Given the description of an element on the screen output the (x, y) to click on. 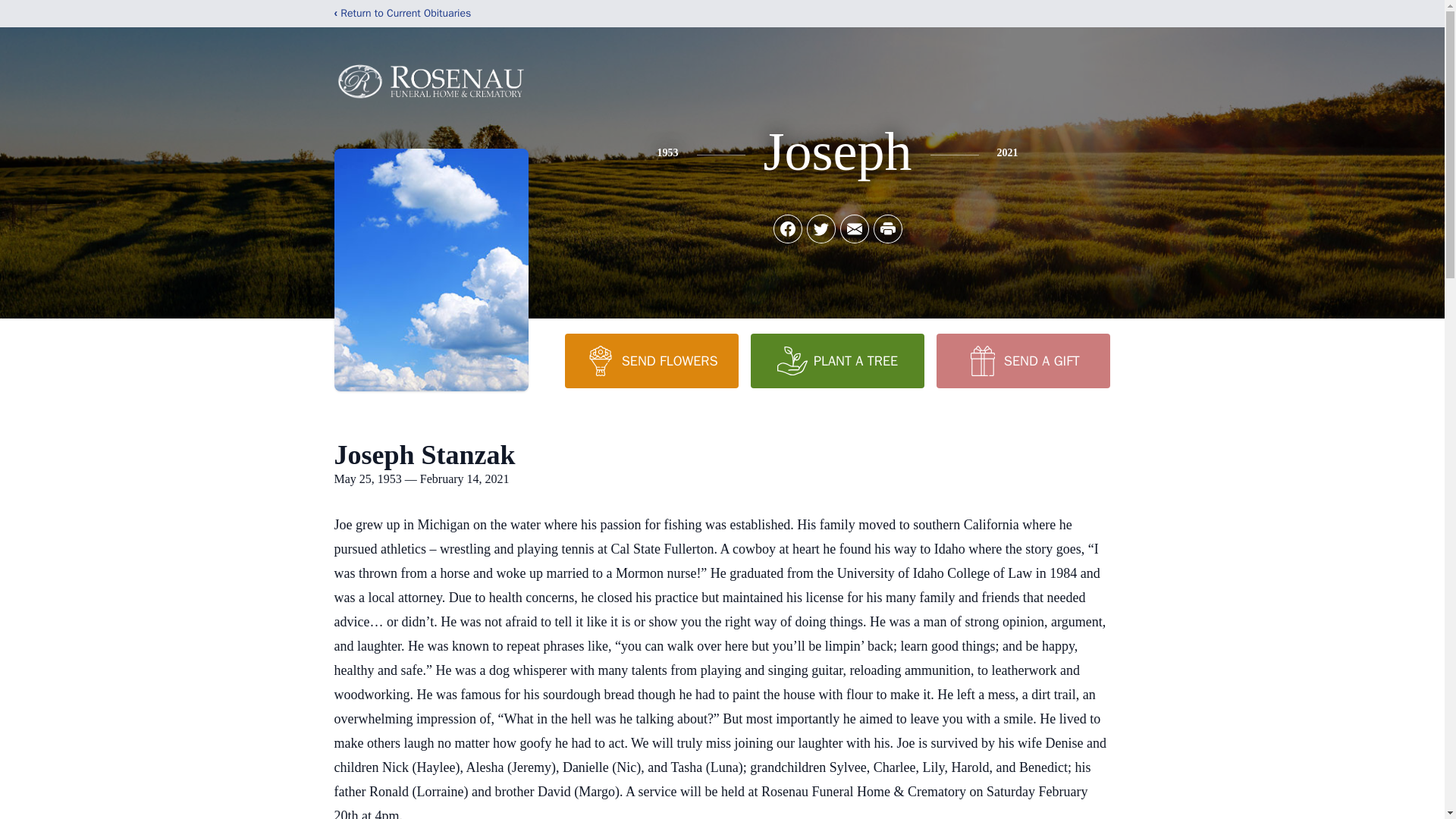
PLANT A TREE (837, 360)
SEND FLOWERS (651, 360)
SEND A GIFT (1022, 360)
